Given the description of an element on the screen output the (x, y) to click on. 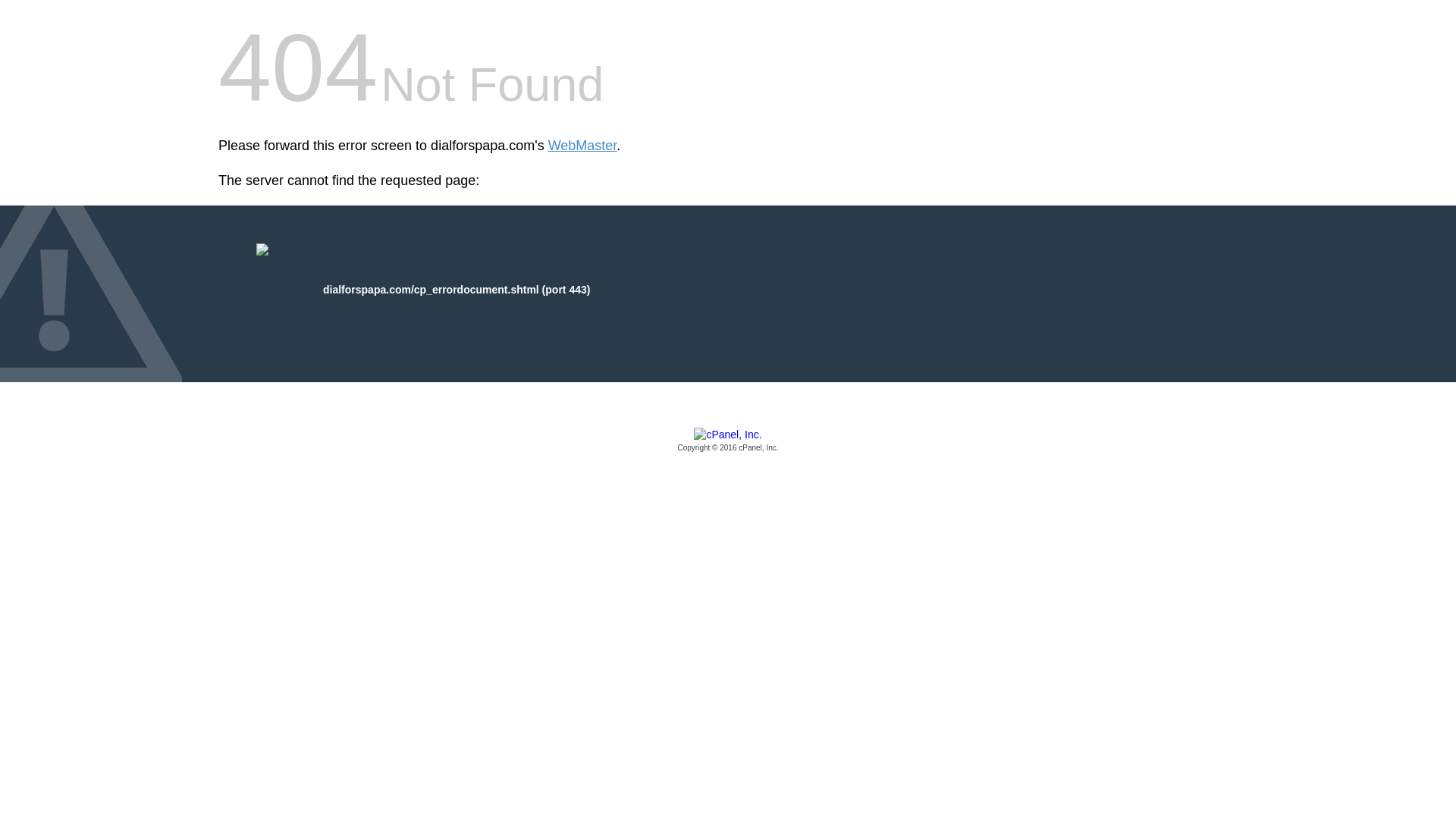
cPanel, Inc. (727, 440)
WebMaster (582, 145)
